Given the description of an element on the screen output the (x, y) to click on. 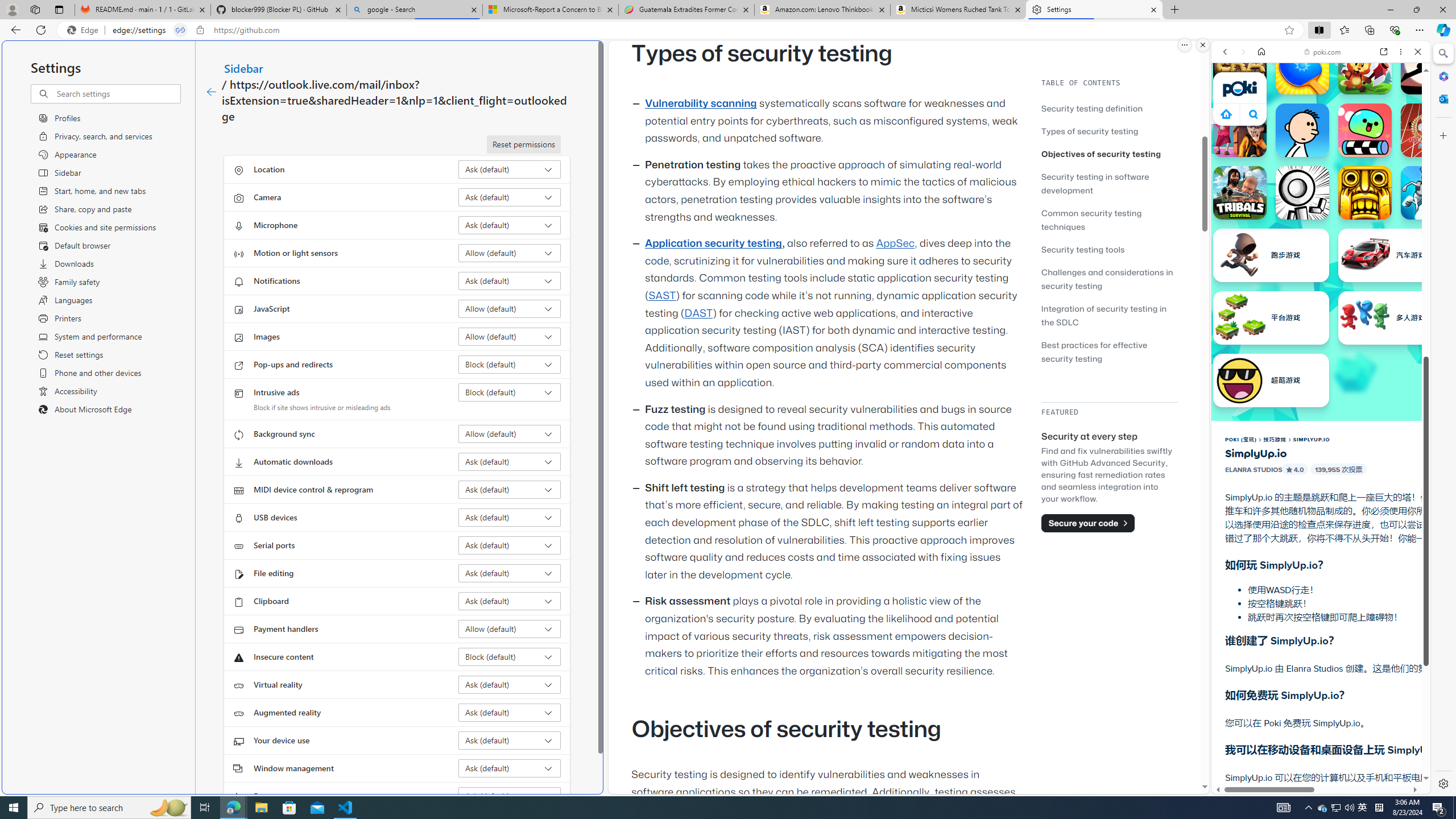
Ping Pong Go! (1302, 67)
Games for Girls (1320, 407)
Intrusive ads Block (default) (509, 392)
Two Player Games (1320, 323)
Show More Games for Girls (1390, 407)
Clipboard Ask (default) (509, 601)
Class: B_5ykBA46kDOxiz_R9wm (1253, 113)
Your device use Ask (default) (509, 740)
